Given the description of an element on the screen output the (x, y) to click on. 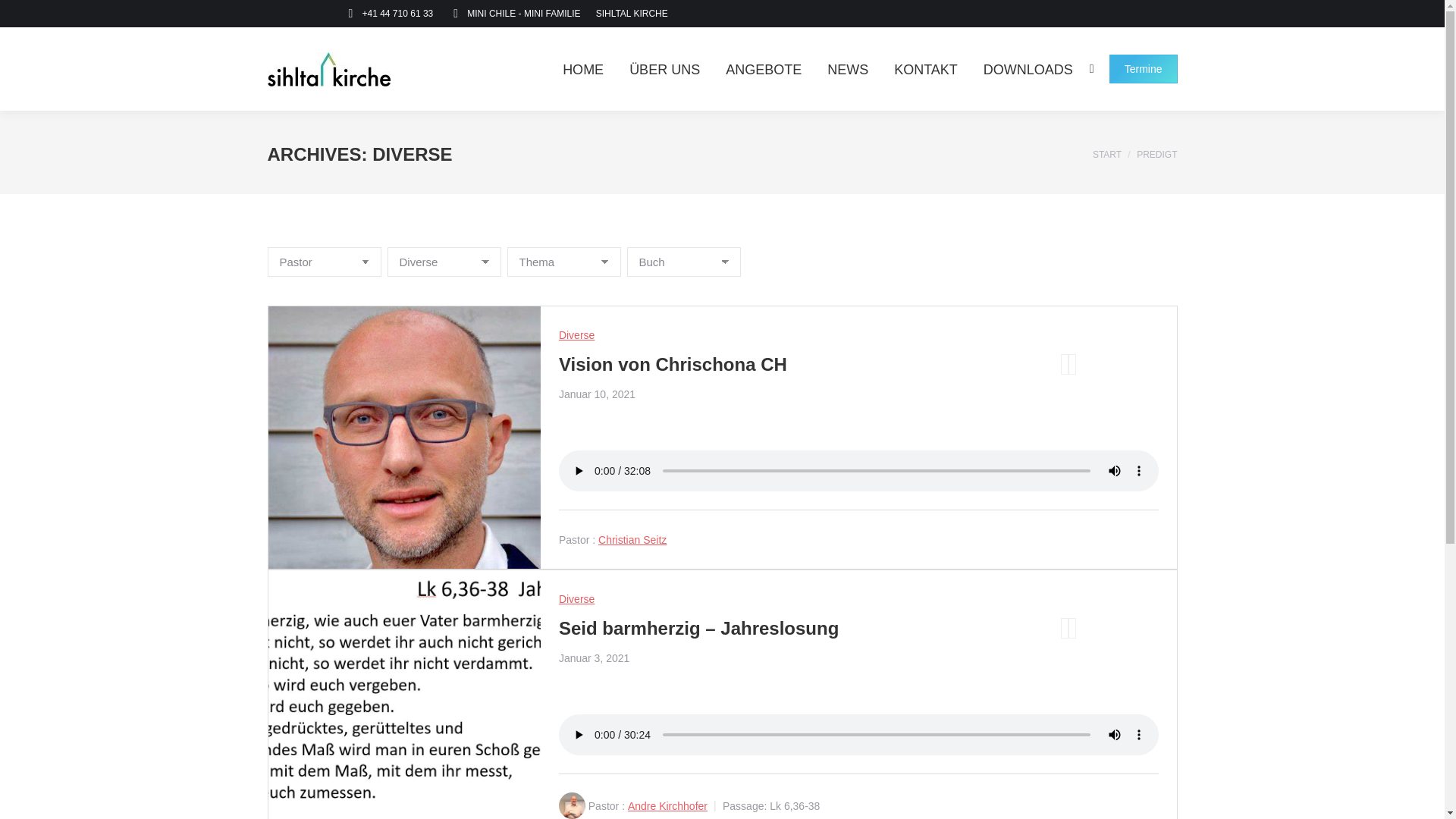
Christian Seitz Element type: text (632, 539)
HOME Element type: text (582, 68)
ANGEBOTE Element type: text (763, 68)
Andre Kirchhofer Element type: text (667, 806)
Diverse Element type: text (576, 599)
KONTAKT Element type: text (925, 68)
START Element type: text (1106, 153)
Los! Element type: text (25, 15)
Notes Element type: hover (1072, 364)
NEWS Element type: text (847, 68)
Audio Element type: hover (1064, 364)
Notes Element type: hover (1072, 628)
Vision von Chrischona CH Element type: text (672, 364)
Diverse Element type: text (576, 335)
DOWNLOADS Element type: text (1028, 68)
Audio Element type: hover (1064, 628)
Termine Element type: text (1143, 68)
